Given the description of an element on the screen output the (x, y) to click on. 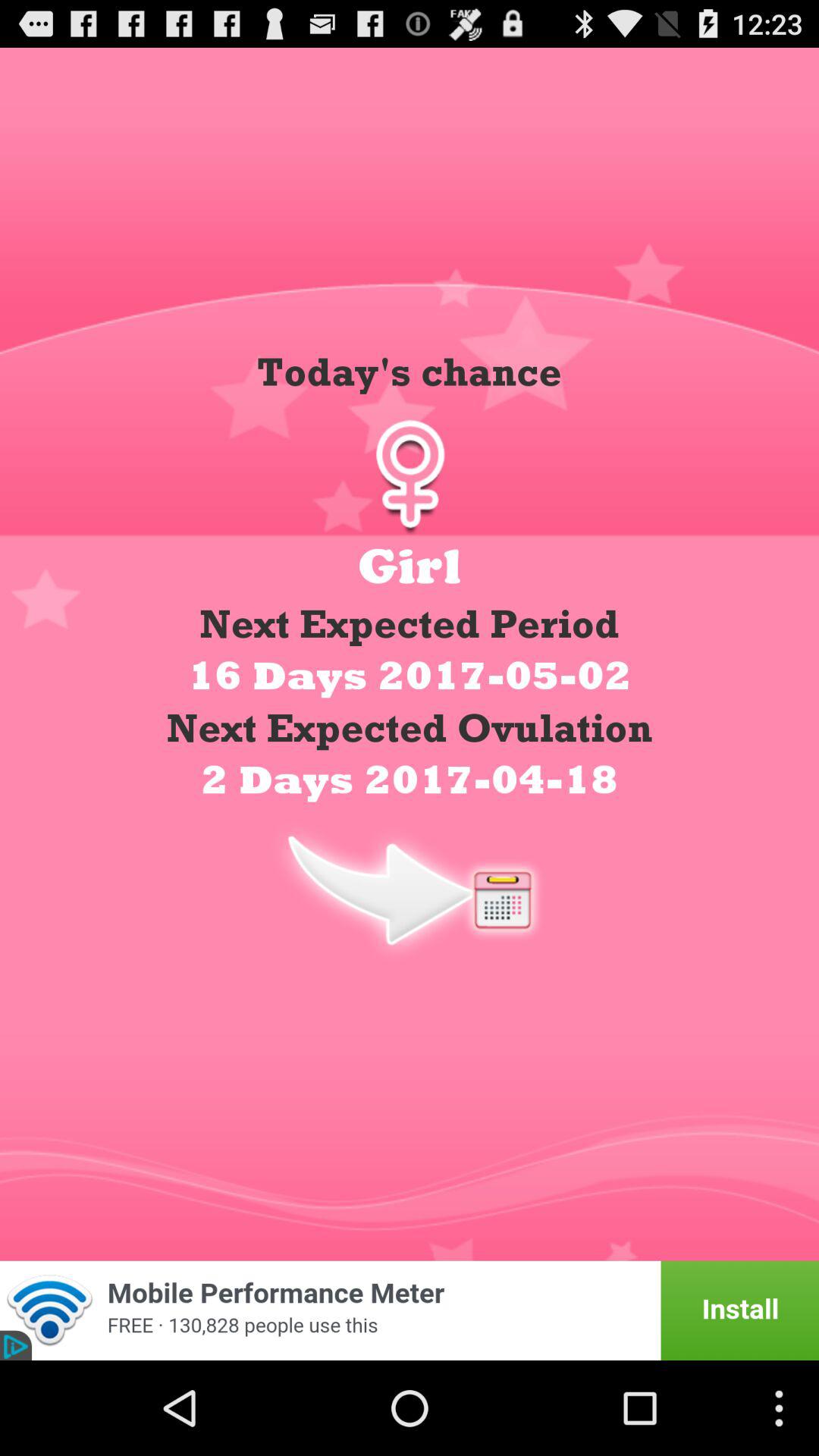
view calendar (409, 889)
